Given the description of an element on the screen output the (x, y) to click on. 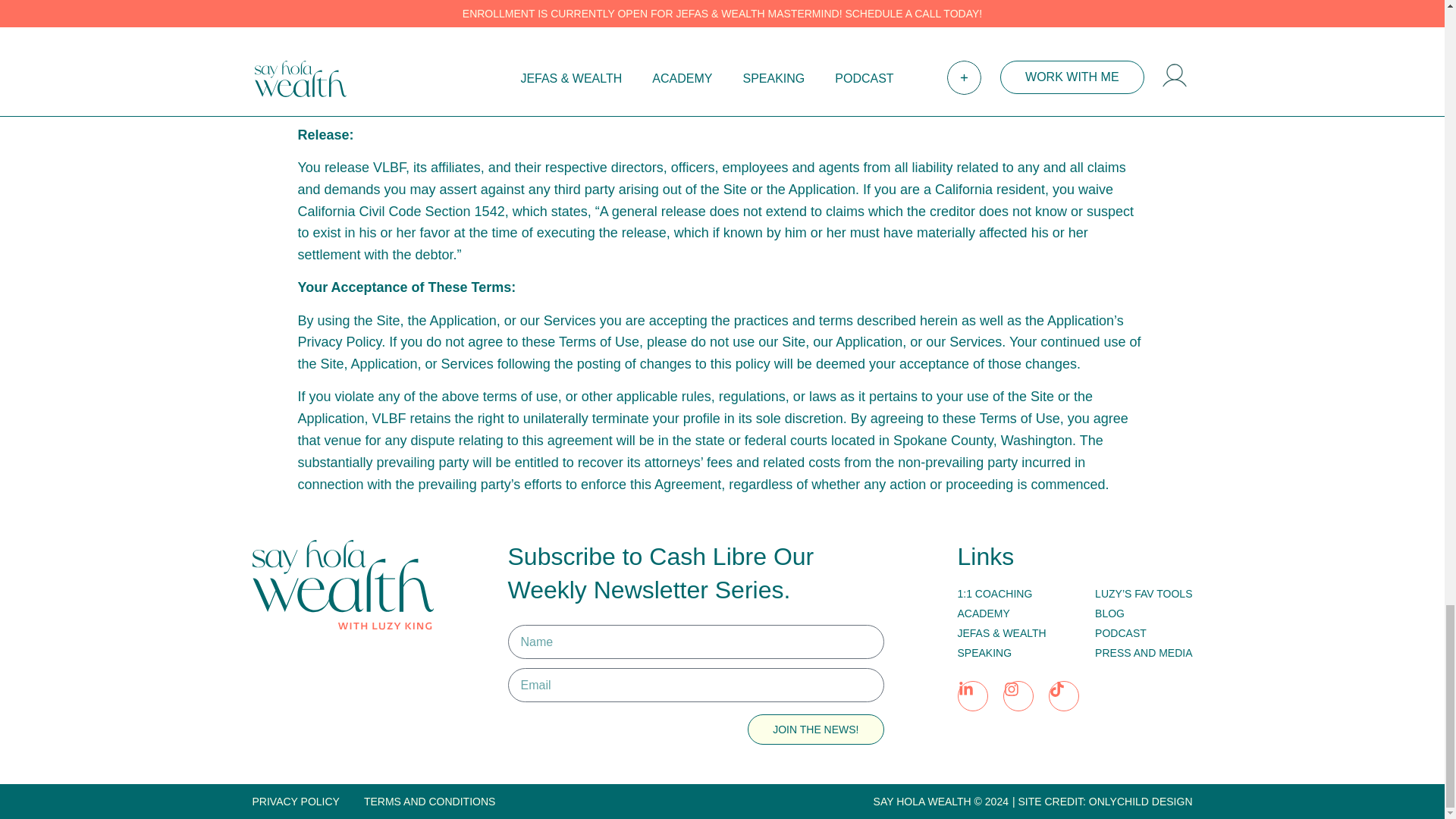
JOIN THE NEWS! (815, 729)
1:1 COACHING (1000, 593)
ACADEMY (1000, 613)
SPEAKING (1000, 652)
